Given the description of an element on the screen output the (x, y) to click on. 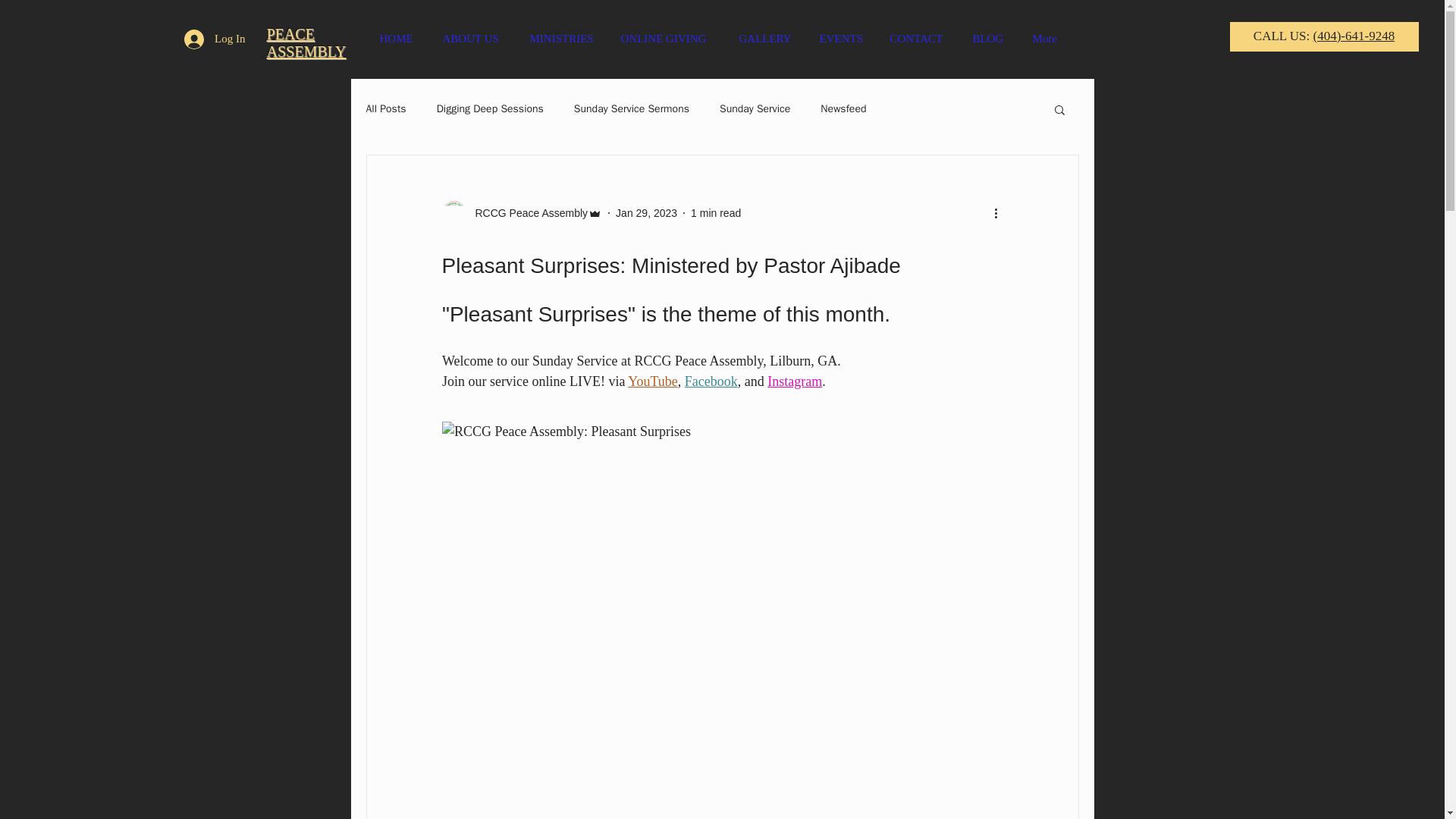
1 min read (715, 212)
HOME (399, 38)
Newsfeed (843, 109)
PEACE ASSEMBLY (306, 42)
ONLINE GIVING (669, 38)
Sunday Service (754, 109)
GALLERY (768, 38)
Instagram (794, 381)
BLOG (991, 38)
Jan 29, 2023 (646, 212)
RCCG Peace Assembly (521, 212)
Digging Deep Sessions (489, 109)
YouTube (652, 381)
EVENTS (843, 38)
CONTACT (918, 38)
